Given the description of an element on the screen output the (x, y) to click on. 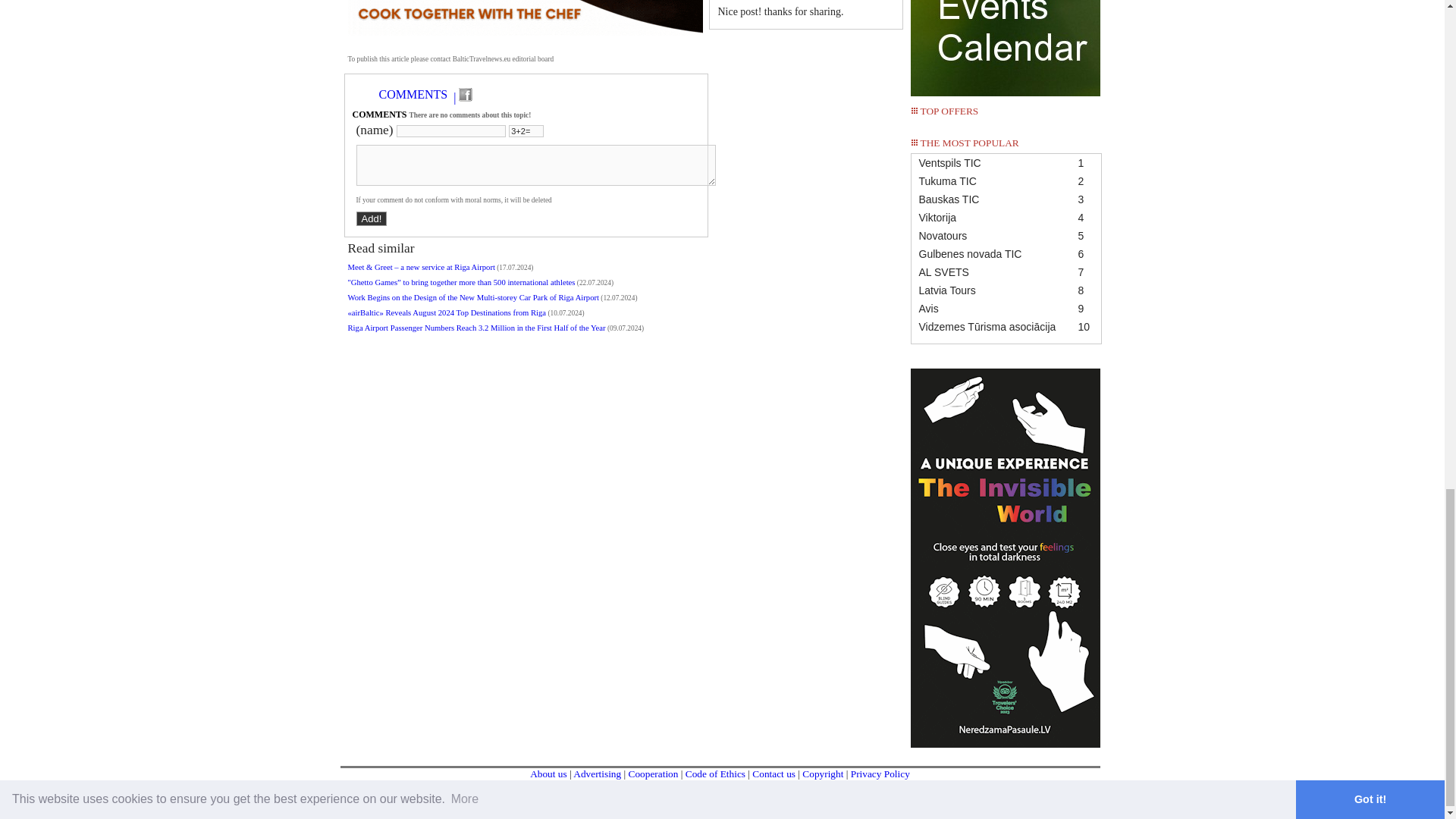
COMMENTS (413, 94)
Add! (371, 218)
Ventspils TIC (1005, 162)
